Given the description of an element on the screen output the (x, y) to click on. 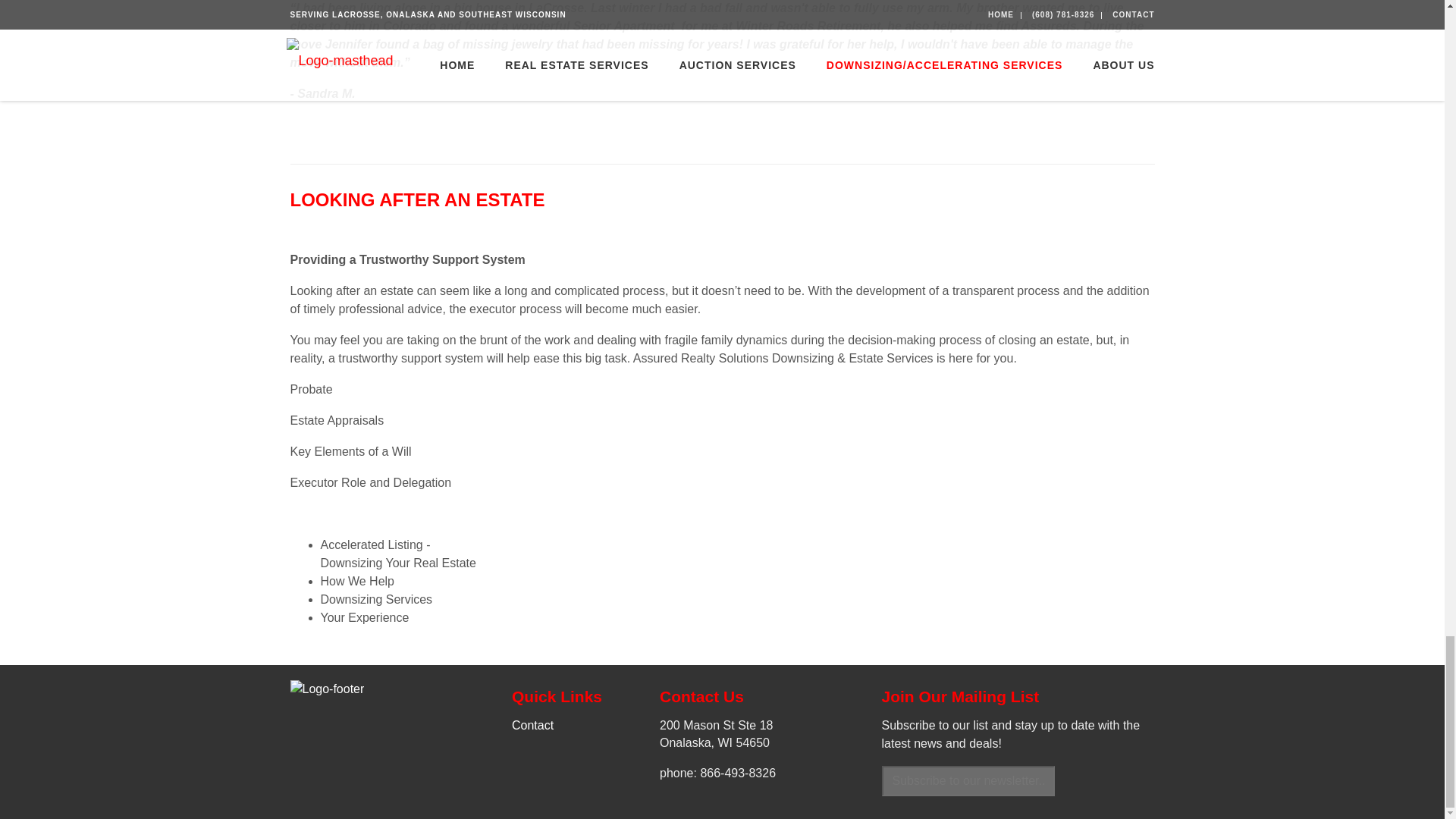
How We Help (357, 581)
Contact (532, 725)
Downsizing Services (376, 599)
Accelerated Listing - Downsizing Your Real Estate (398, 553)
Your Experience (364, 617)
